Given the description of an element on the screen output the (x, y) to click on. 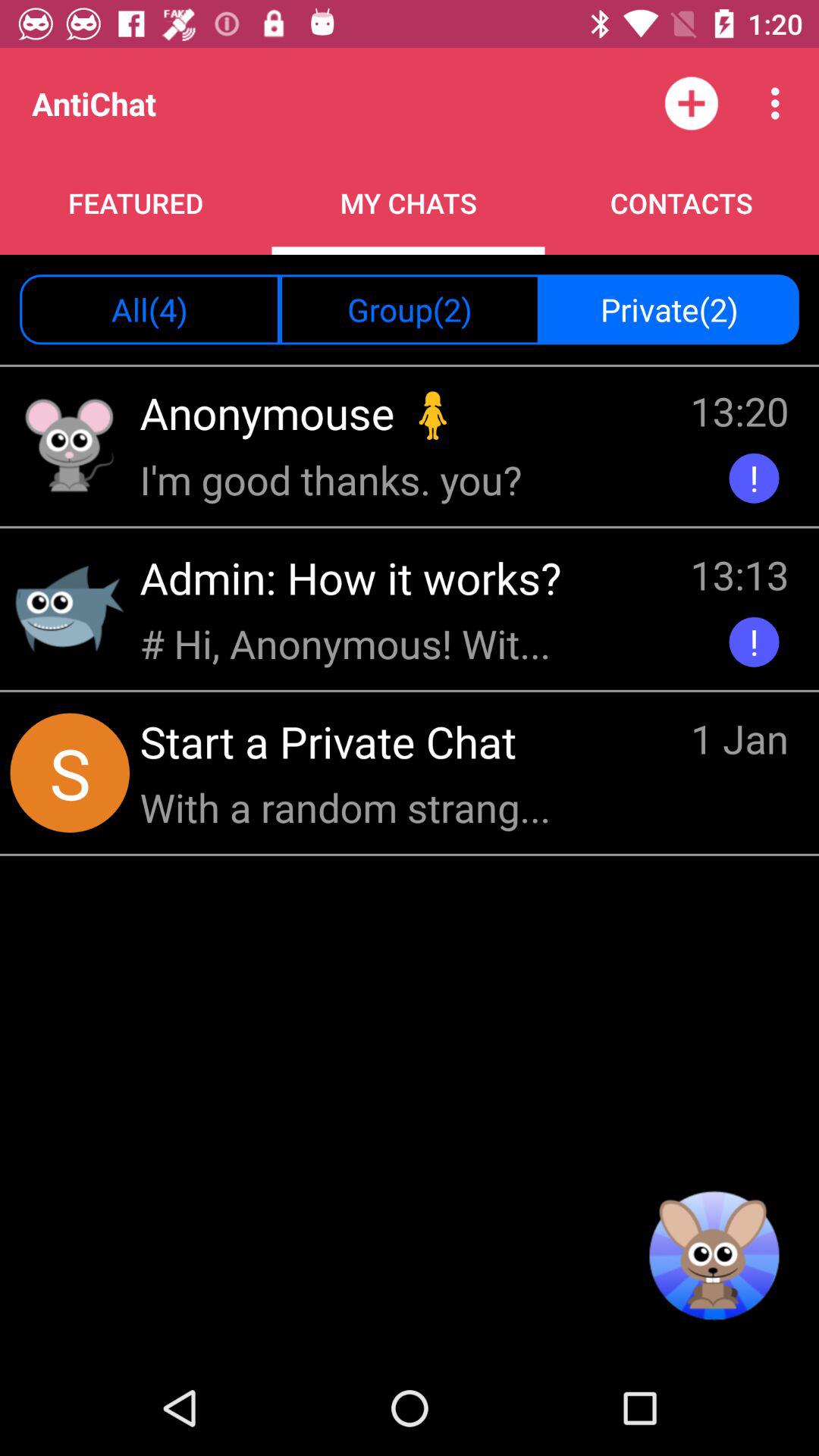
launch the item to the left of the 13:13 (349, 643)
